Given the description of an element on the screen output the (x, y) to click on. 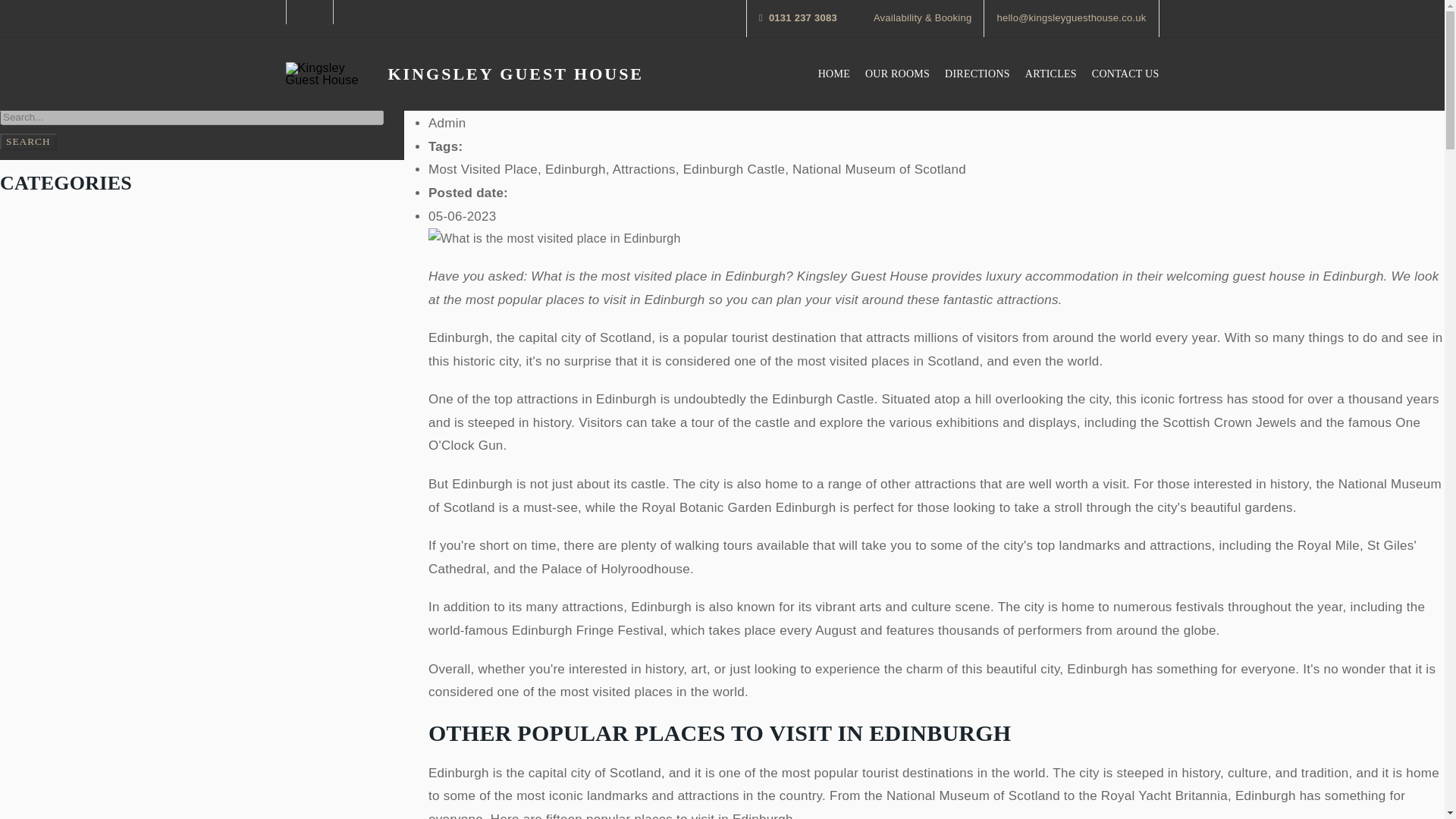
Contact Us (1125, 73)
Search (28, 141)
ARTICLES (1051, 73)
Search (28, 141)
DIRECTIONS (977, 73)
HOME (834, 73)
OUR ROOMS (897, 73)
Facebook (309, 12)
Directions (977, 73)
Please enter a search term with more than 3 characters (192, 116)
Articles (1051, 73)
Home (834, 73)
What is the most visited place in Edinburgh (554, 239)
CONTACT US (1125, 73)
0131 237 3083 (797, 18)
